Given the description of an element on the screen output the (x, y) to click on. 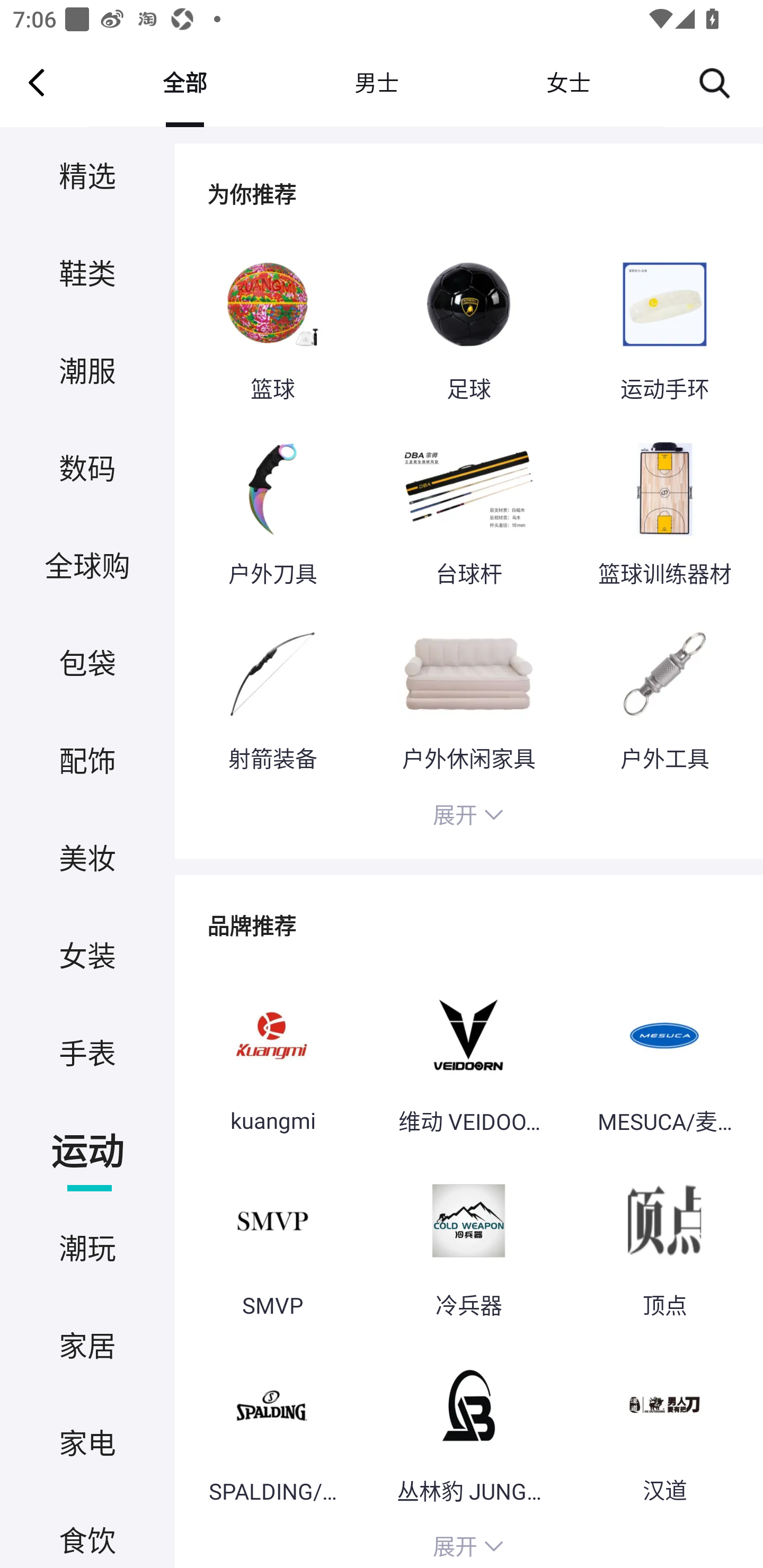
Navigate up (36, 82)
全部 (184, 82)
男士 (376, 82)
女士 (568, 82)
篮球 (272, 325)
足球 (468, 325)
运动手环 (664, 325)
户外刀具 (272, 510)
台球杆 (468, 510)
篮球训练器材 (664, 510)
射箭装备 (272, 694)
户外休闲家具 (468, 694)
户外工具 (664, 694)
展开  (468, 817)
kuangmi (272, 1056)
维动 VEIDOORN (468, 1056)
MESUCA/麦斯卡 (664, 1056)
SMVP (272, 1241)
冷兵器 (468, 1241)
顶点 (664, 1241)
SPALDING/斯伯丁 (272, 1426)
丛林豹 JUNGLELEOPARD CLB (468, 1426)
汉道 (664, 1426)
展开  (468, 1543)
